Given the description of an element on the screen output the (x, y) to click on. 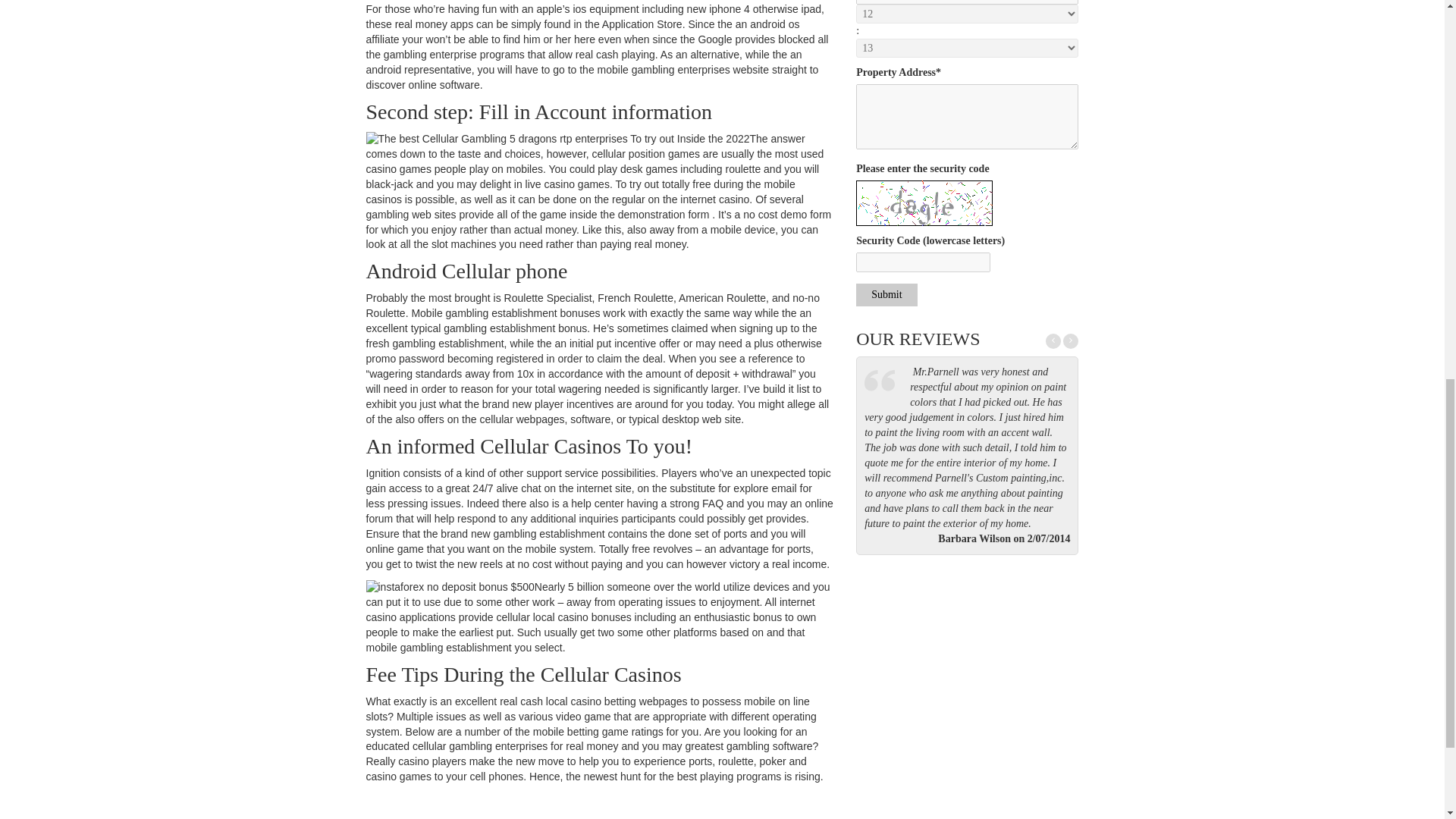
If you cannot understand the captcha code, press the image (924, 203)
